Given the description of an element on the screen output the (x, y) to click on. 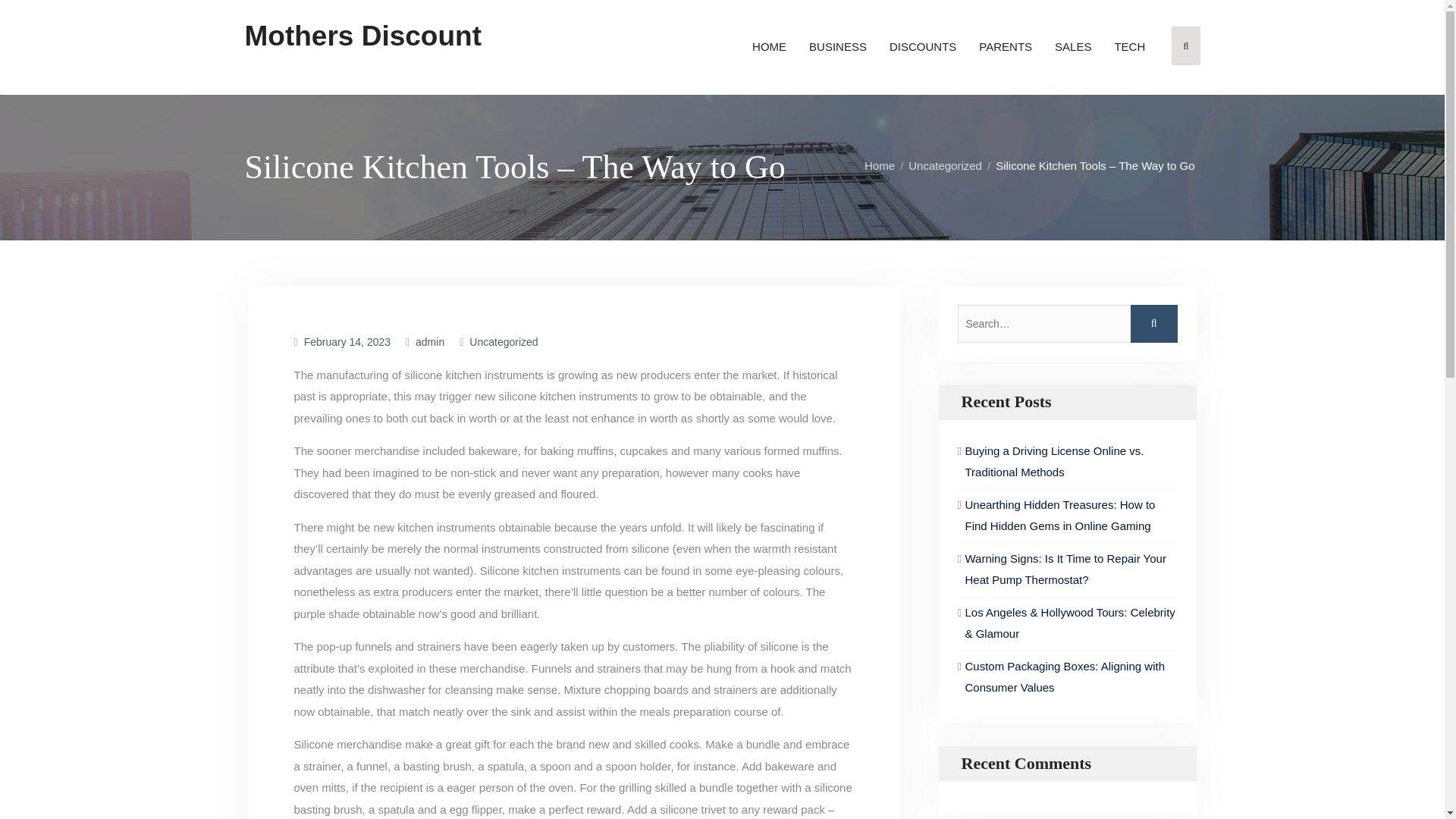
Home (883, 164)
February 14, 2023 (347, 341)
Buying a Driving License Online vs. Traditional Methods (1052, 461)
Uncategorized (949, 164)
Uncategorized (502, 341)
SALES (1072, 47)
Mothers Discount (362, 35)
BUSINESS (837, 47)
admin (429, 341)
